Given the description of an element on the screen output the (x, y) to click on. 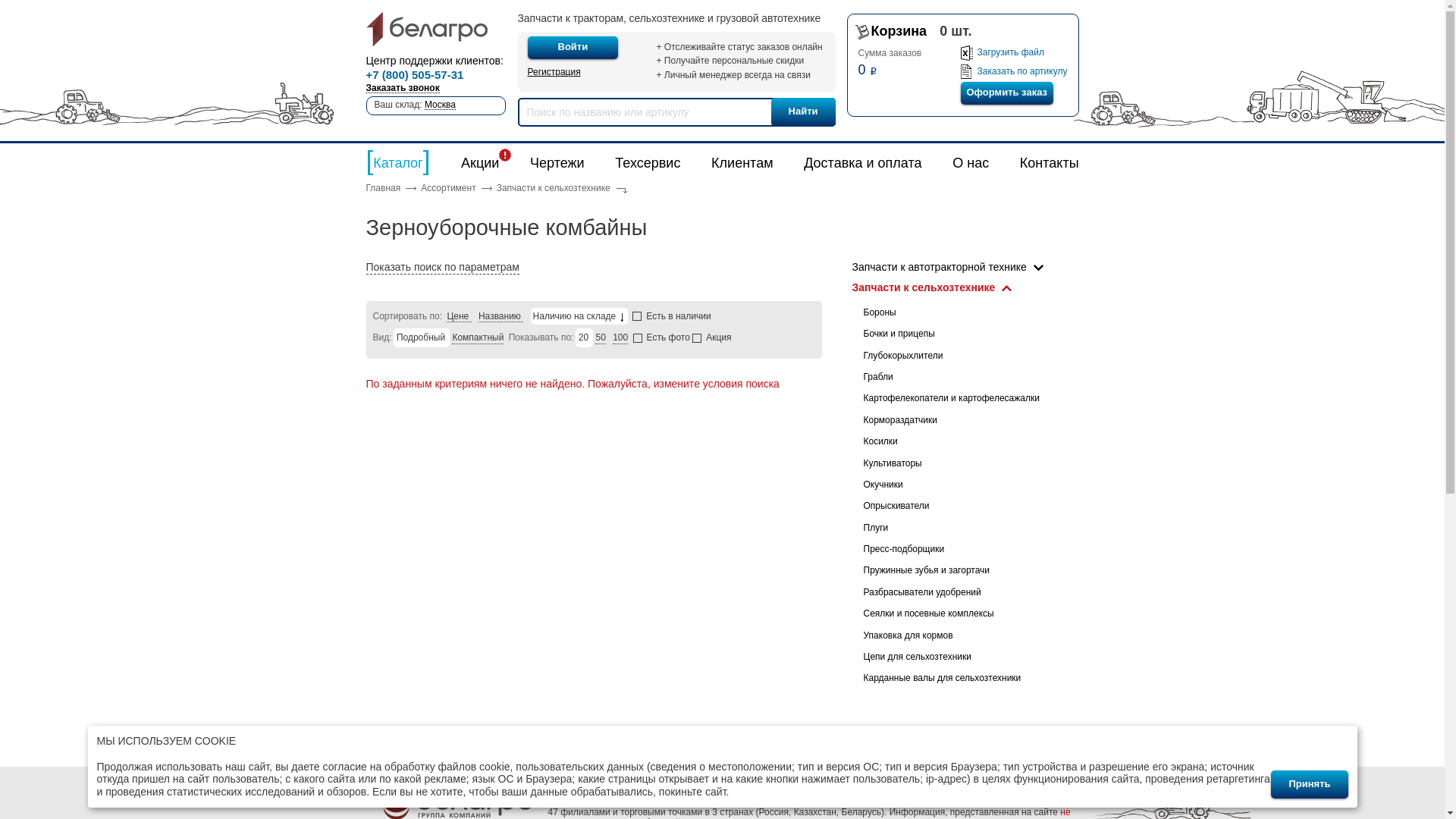
+7 (800) 505-57-31 Element type: text (414, 75)
